Given the description of an element on the screen output the (x, y) to click on. 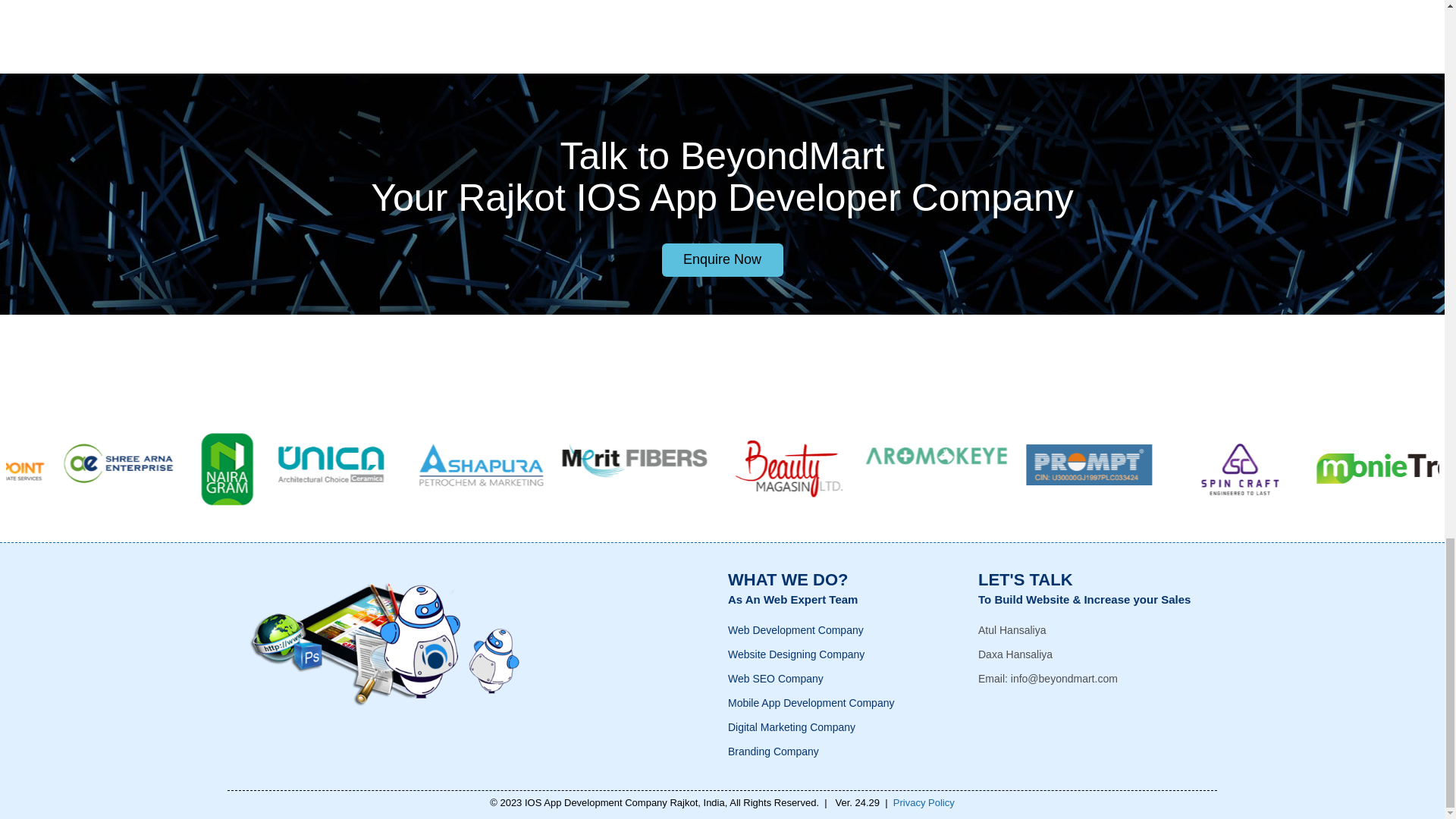
Digital Marketing Company (792, 727)
Enquire Now (722, 259)
Mobile App Development Company (810, 702)
Privacy Policy (924, 802)
Branding Company (773, 751)
IOS App Development Company Rajkot, India (624, 802)
Web Development Company (795, 630)
Website Designing Company (796, 654)
Web SEO Company (776, 678)
